Given the description of an element on the screen output the (x, y) to click on. 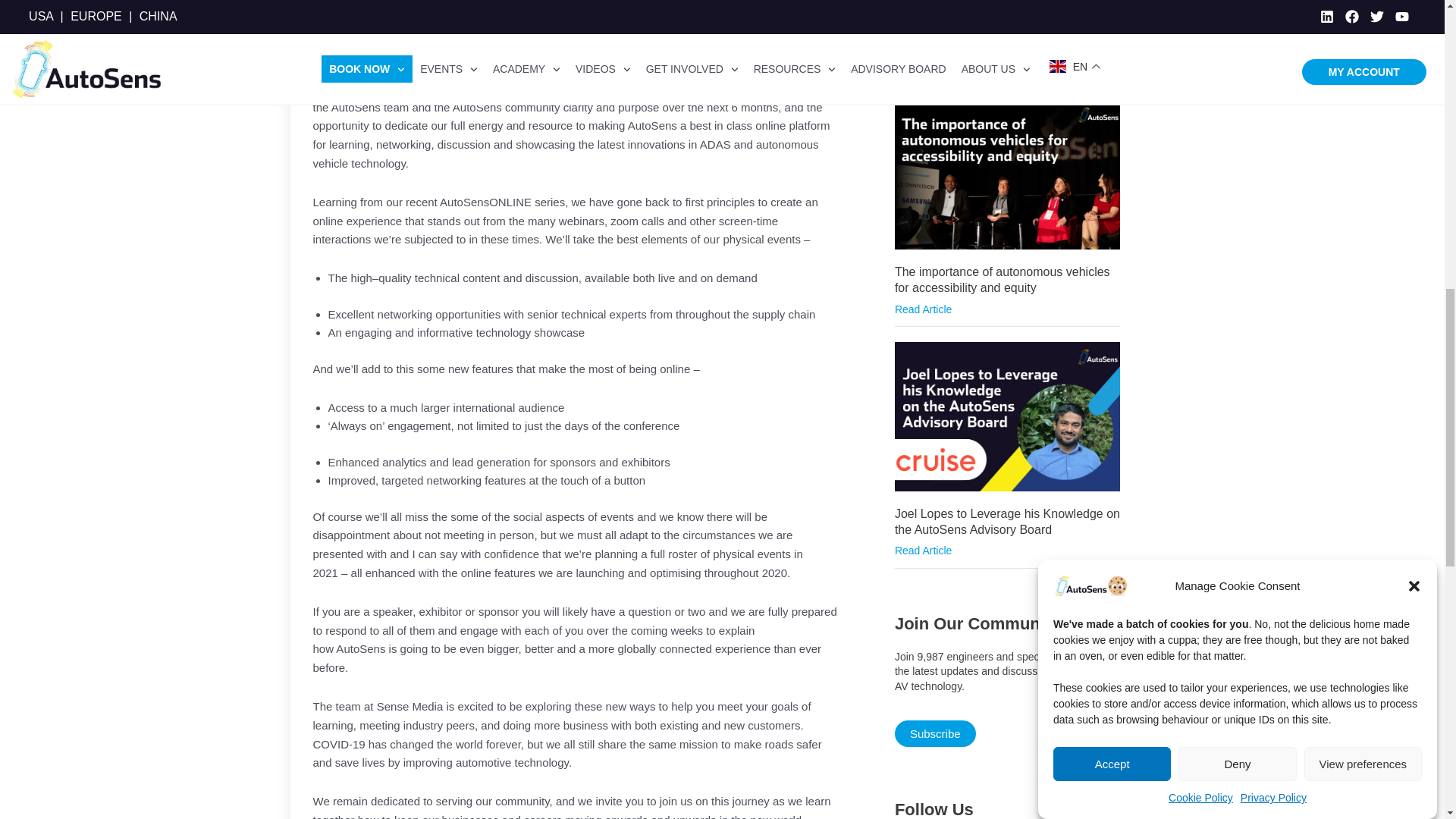
View preferences (1363, 95)
Accept (1111, 144)
Deny (1236, 118)
Privacy Policy (1273, 59)
Cookie Policy (1201, 74)
